Given the description of an element on the screen output the (x, y) to click on. 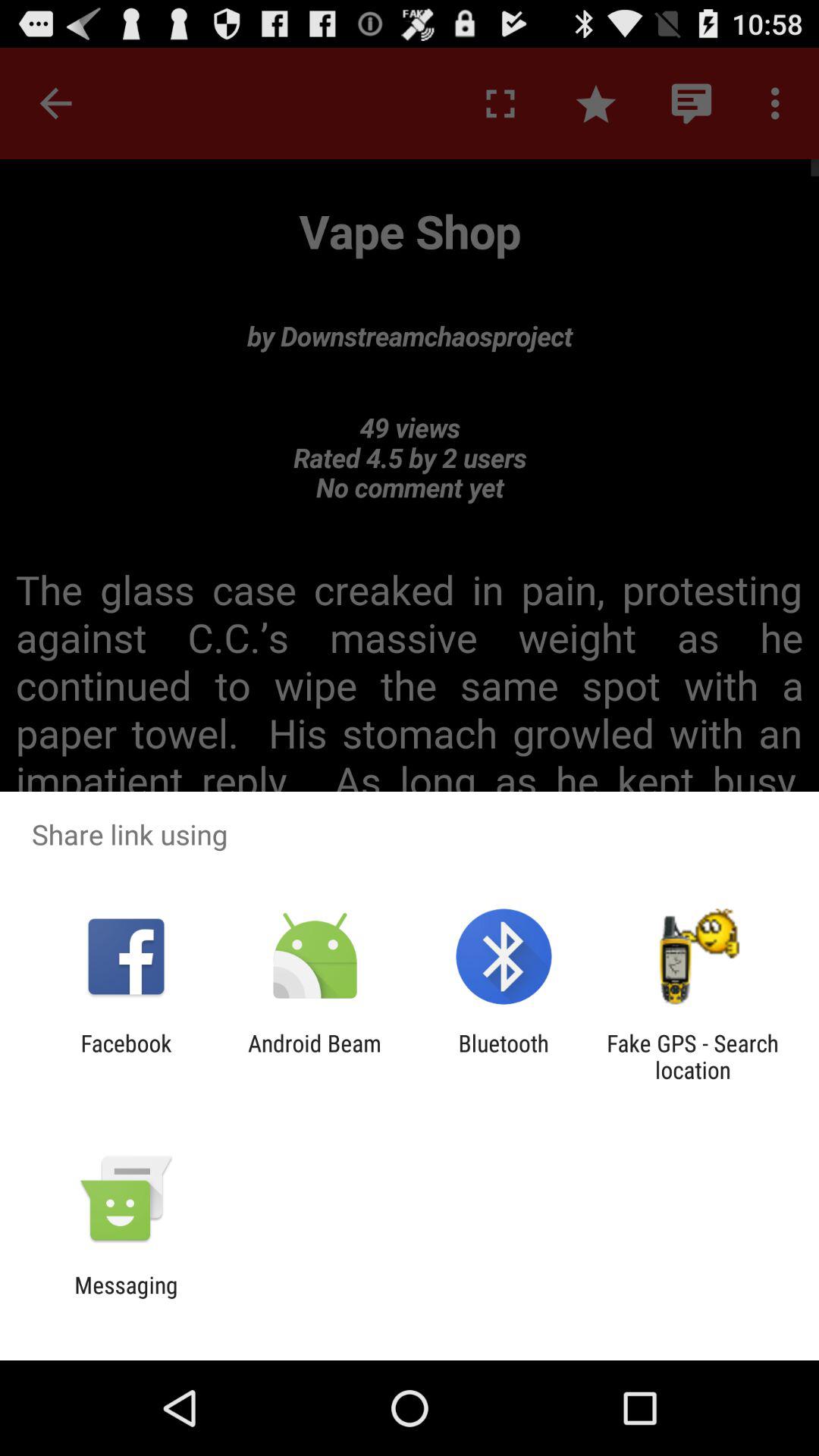
scroll to fake gps search (692, 1056)
